Given the description of an element on the screen output the (x, y) to click on. 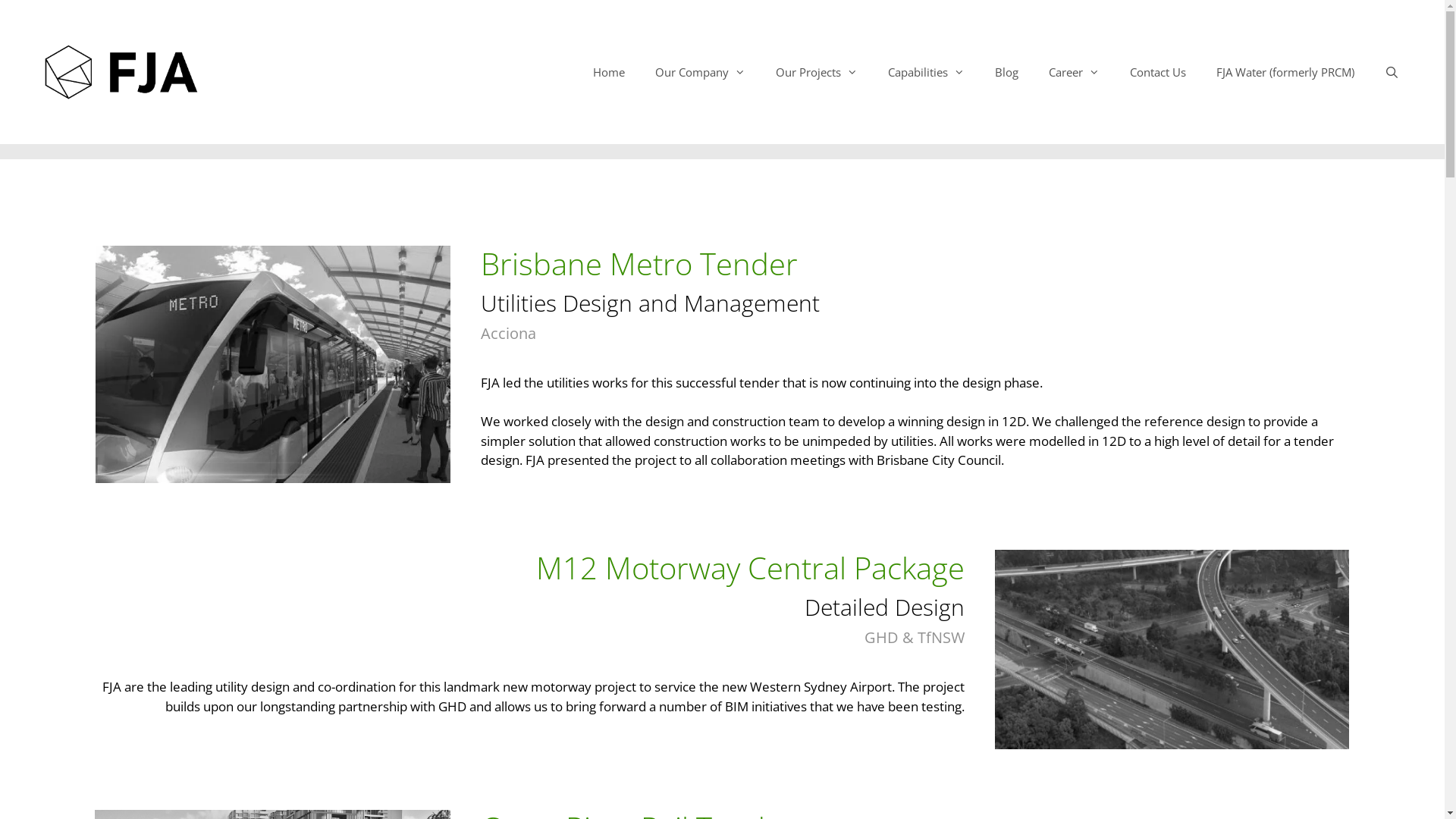
Home Element type: text (608, 71)
Career Element type: text (1073, 71)
M12 Element type: hover (1171, 649)
Contact Us Element type: text (1157, 71)
Blog Element type: text (1006, 71)
Capabilities Element type: text (925, 71)
FJA Water (formerly PRCM) Element type: text (1285, 71)
Our Company Element type: text (700, 71)
Our Projects Element type: text (816, 71)
Brisbane Metro Element type: hover (273, 364)
